Given the description of an element on the screen output the (x, y) to click on. 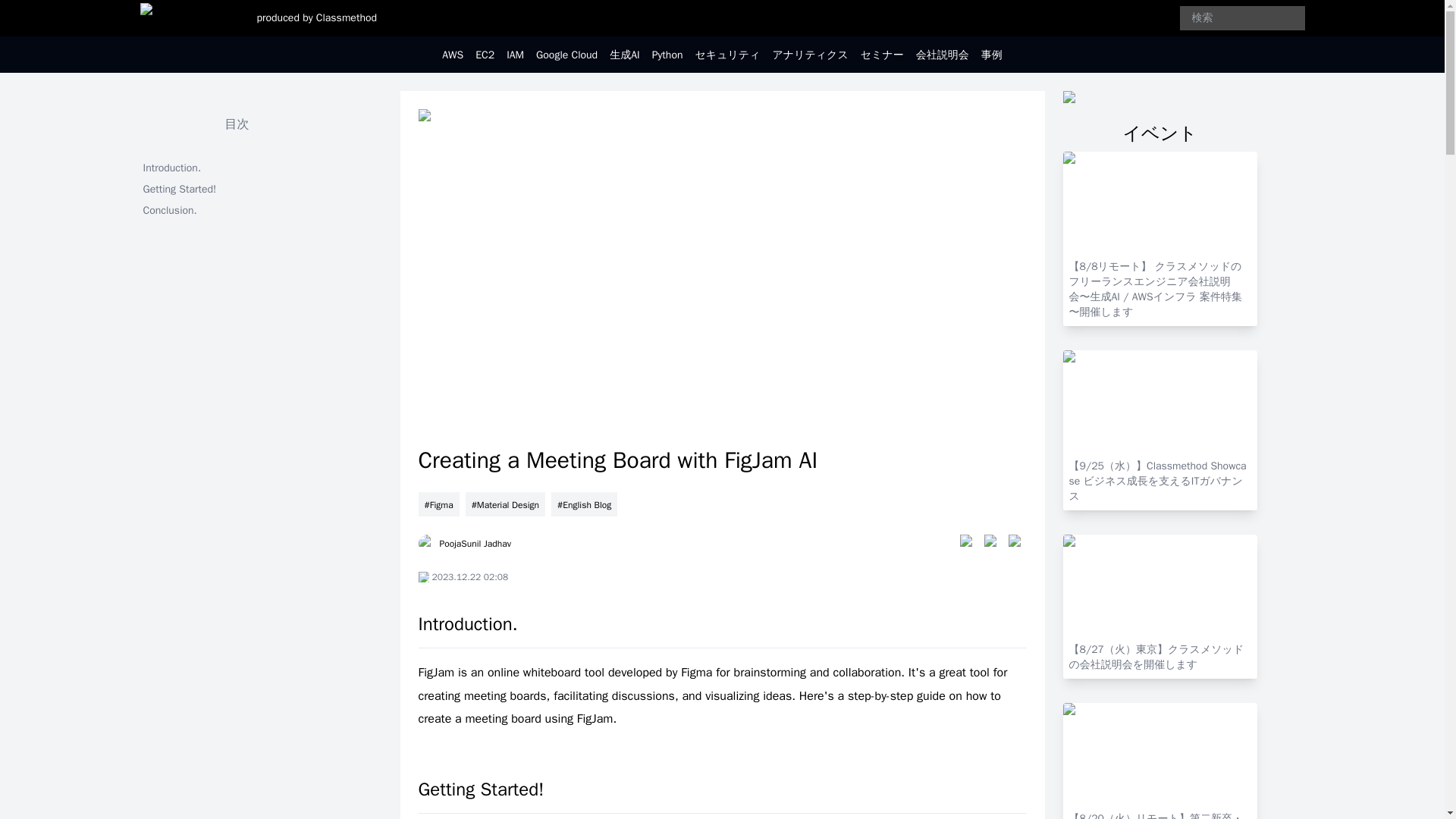
EC2 (485, 54)
Conclusion. (236, 210)
Python (667, 54)
IAM (515, 54)
Getting Started! (236, 189)
Google Cloud (565, 54)
produced by Classmethod (316, 17)
PoojaSunil Jadhav (465, 543)
Introduction. (236, 168)
AWS (452, 54)
